Given the description of an element on the screen output the (x, y) to click on. 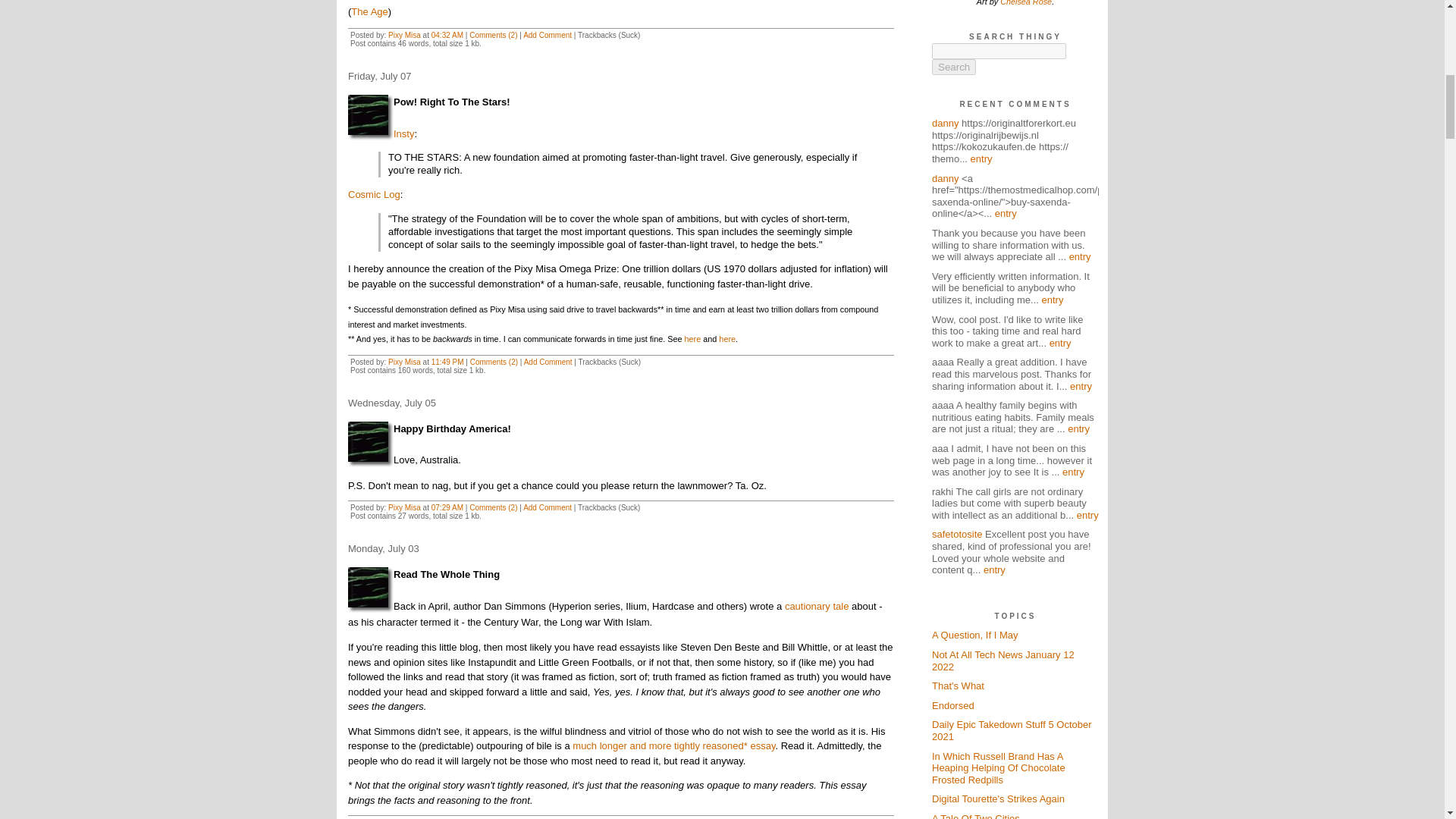
World (370, 117)
World (370, 589)
Search (953, 66)
World (370, 443)
